Given the description of an element on the screen output the (x, y) to click on. 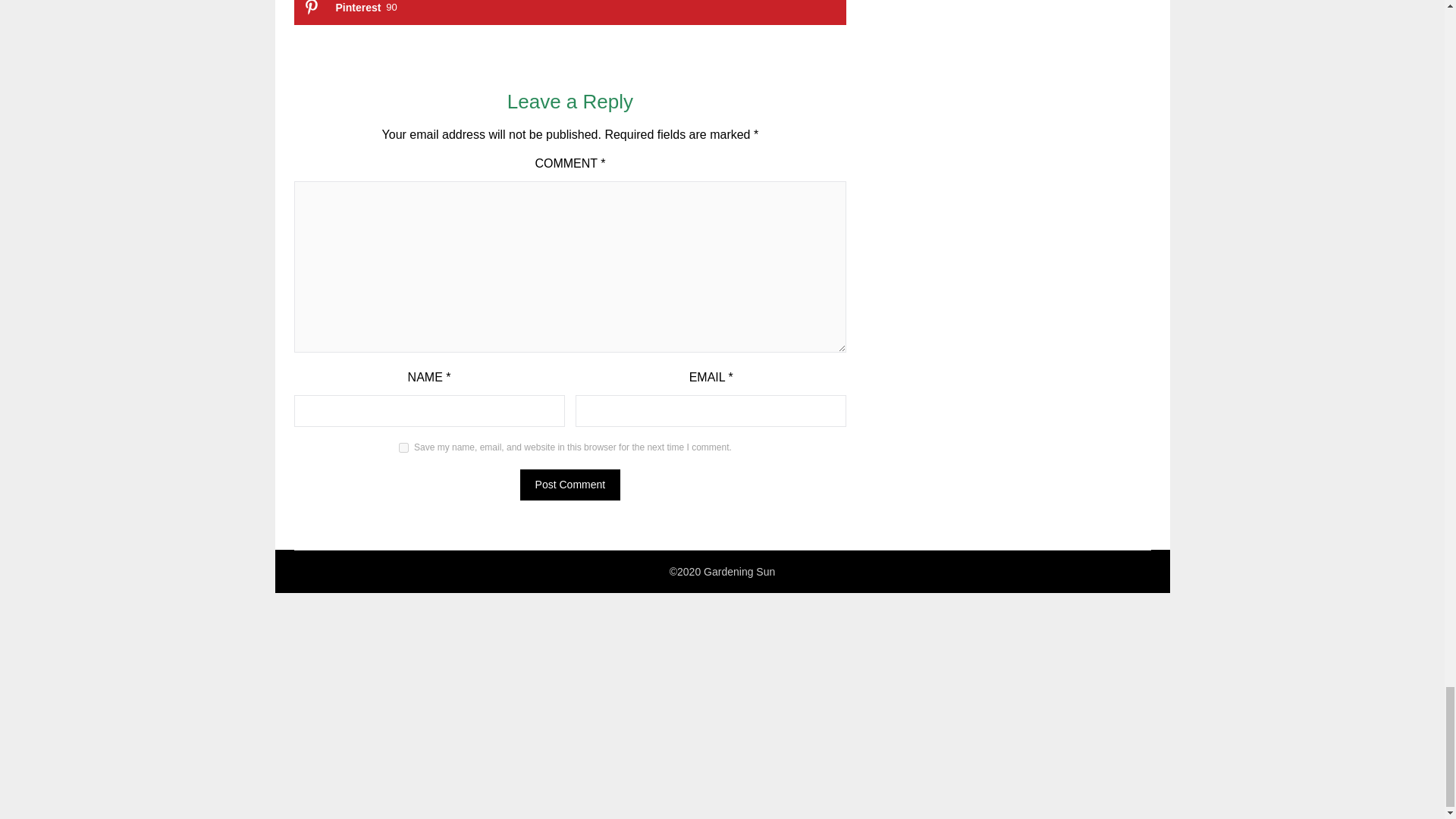
yes (570, 12)
Post Comment (403, 447)
Post Comment (570, 484)
Save to Pinterest (570, 484)
